Given the description of an element on the screen output the (x, y) to click on. 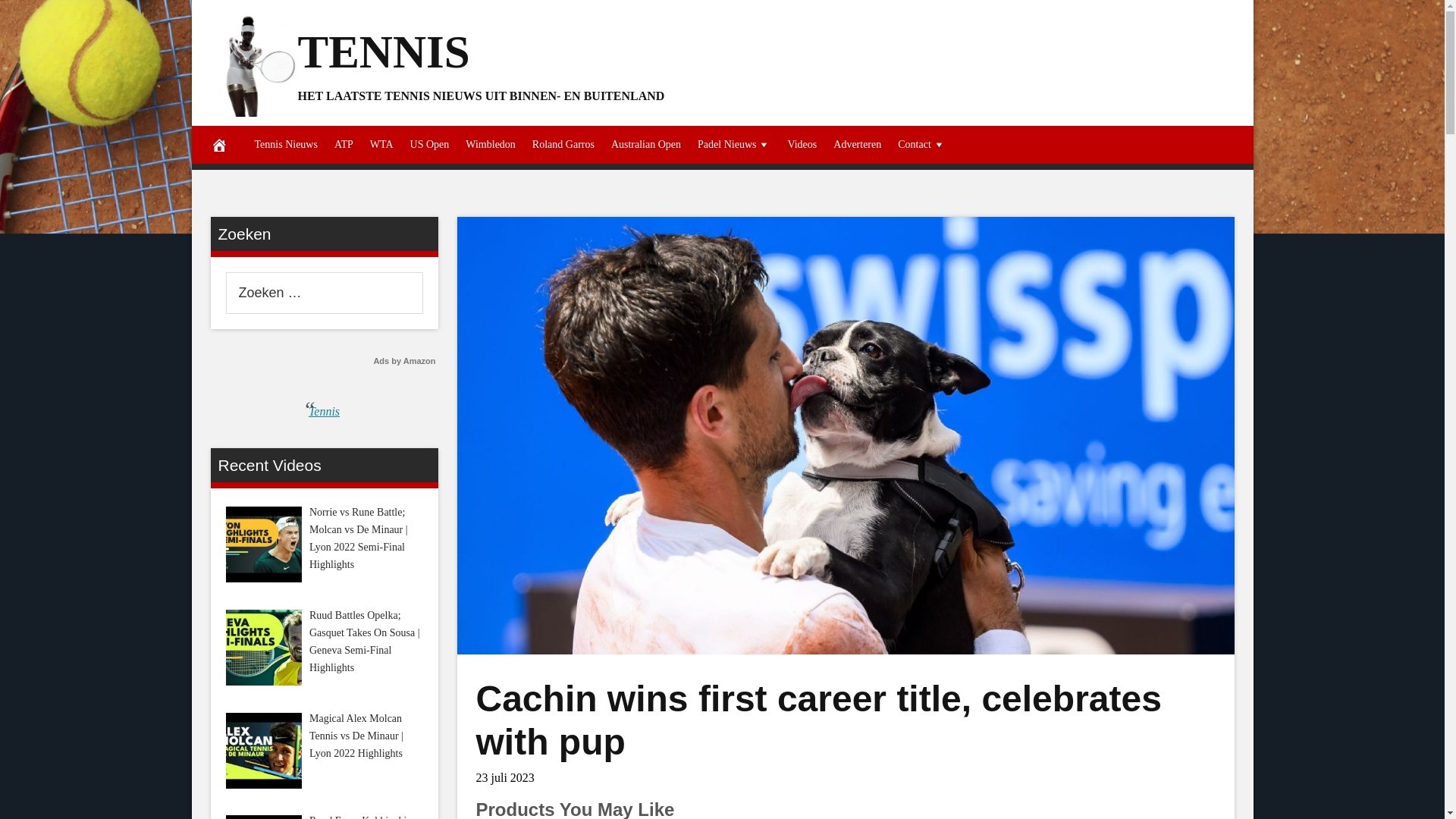
Tennis Nieuws (285, 144)
ATP (343, 144)
TENNIS (382, 50)
Wimbledon (490, 144)
WTA (381, 144)
Padel Nieuws (733, 144)
Australian Open (645, 144)
US Open (429, 144)
